Given the description of an element on the screen output the (x, y) to click on. 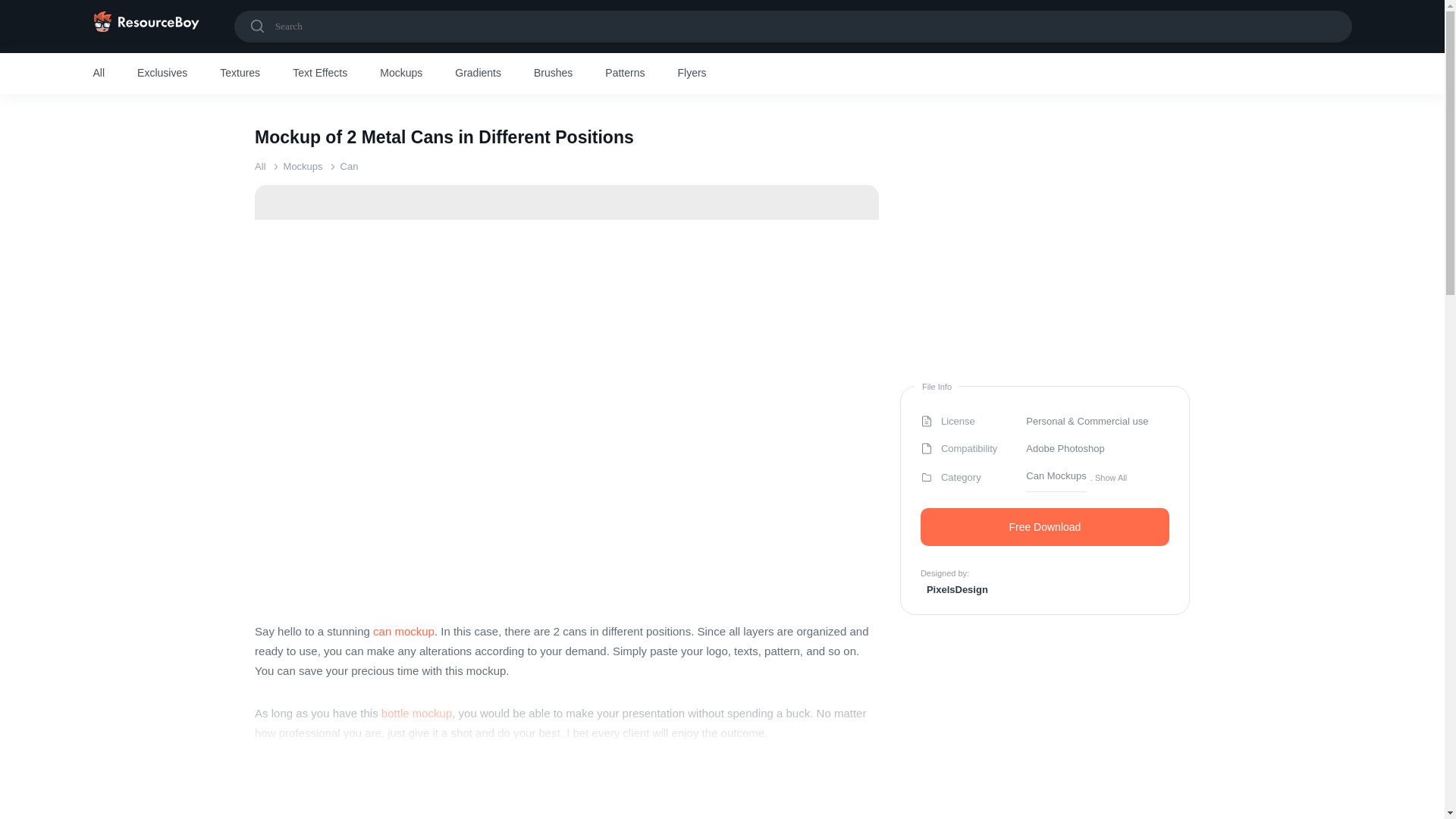
Textures (239, 73)
Brushes (553, 73)
Text Effects (319, 73)
Free Download (1044, 526)
PixelsDesign (954, 588)
can mockup (402, 631)
bottle mockup (416, 712)
Can Mockups (1056, 476)
Mockups (401, 73)
Can (349, 165)
